Given the description of an element on the screen output the (x, y) to click on. 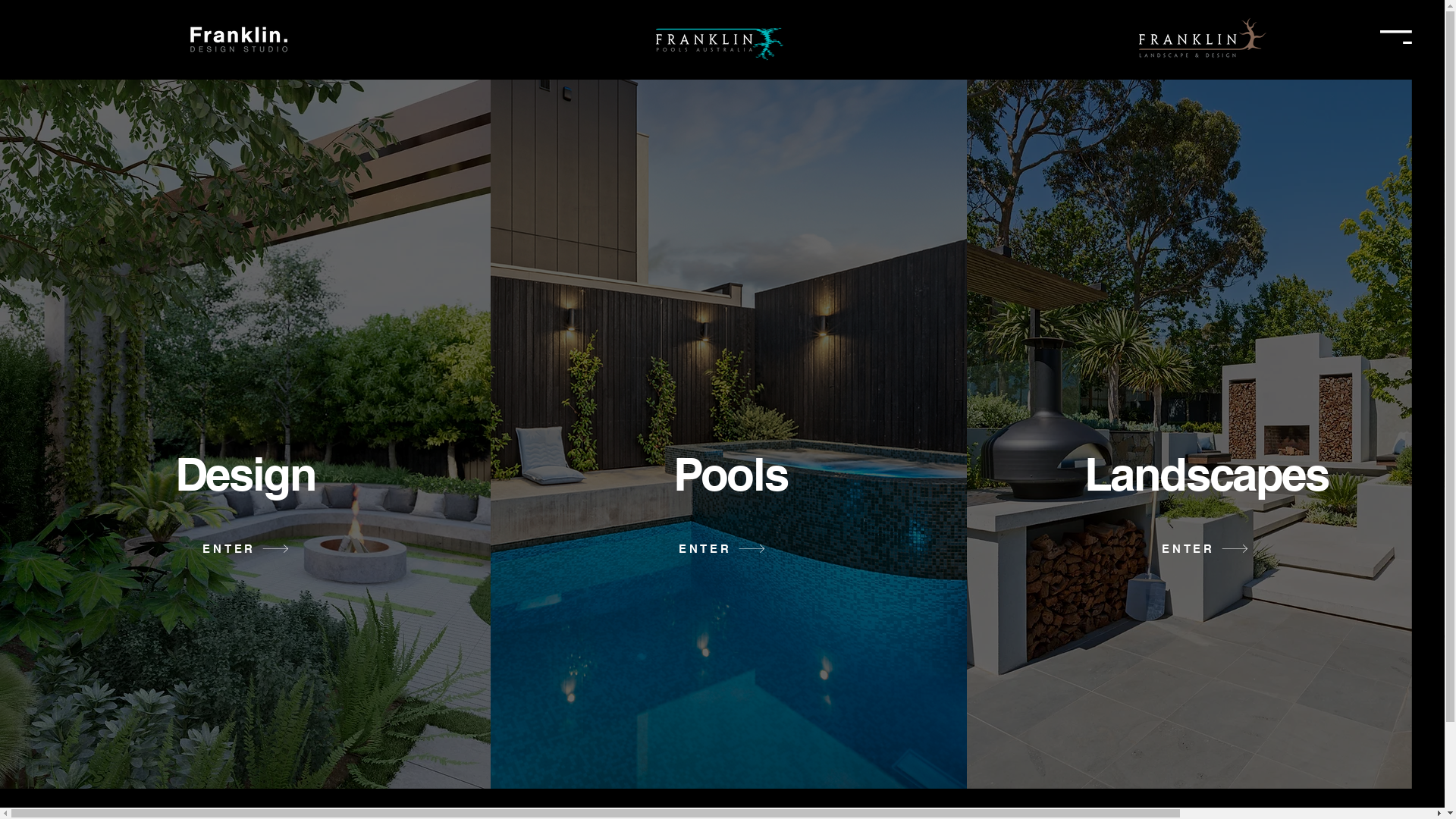
ENTER Element type: text (245, 548)
Landscapes Element type: text (1206, 473)
Pools Element type: text (730, 473)
Design Element type: text (245, 473)
ENTER Element type: text (1205, 548)
ENTER Element type: text (722, 548)
